Given the description of an element on the screen output the (x, y) to click on. 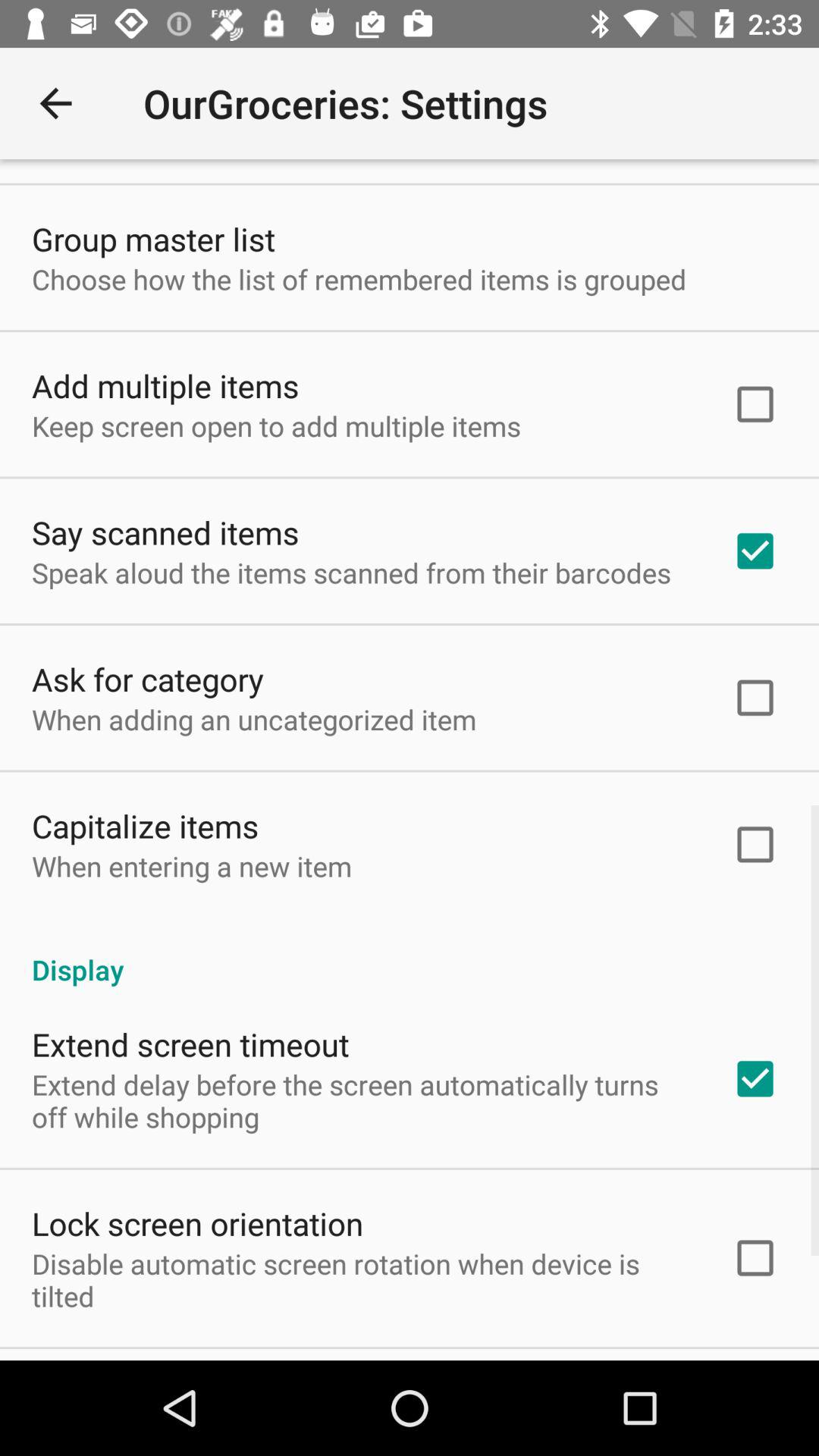
click the item to the left of ourgroceries: settings (55, 103)
